Given the description of an element on the screen output the (x, y) to click on. 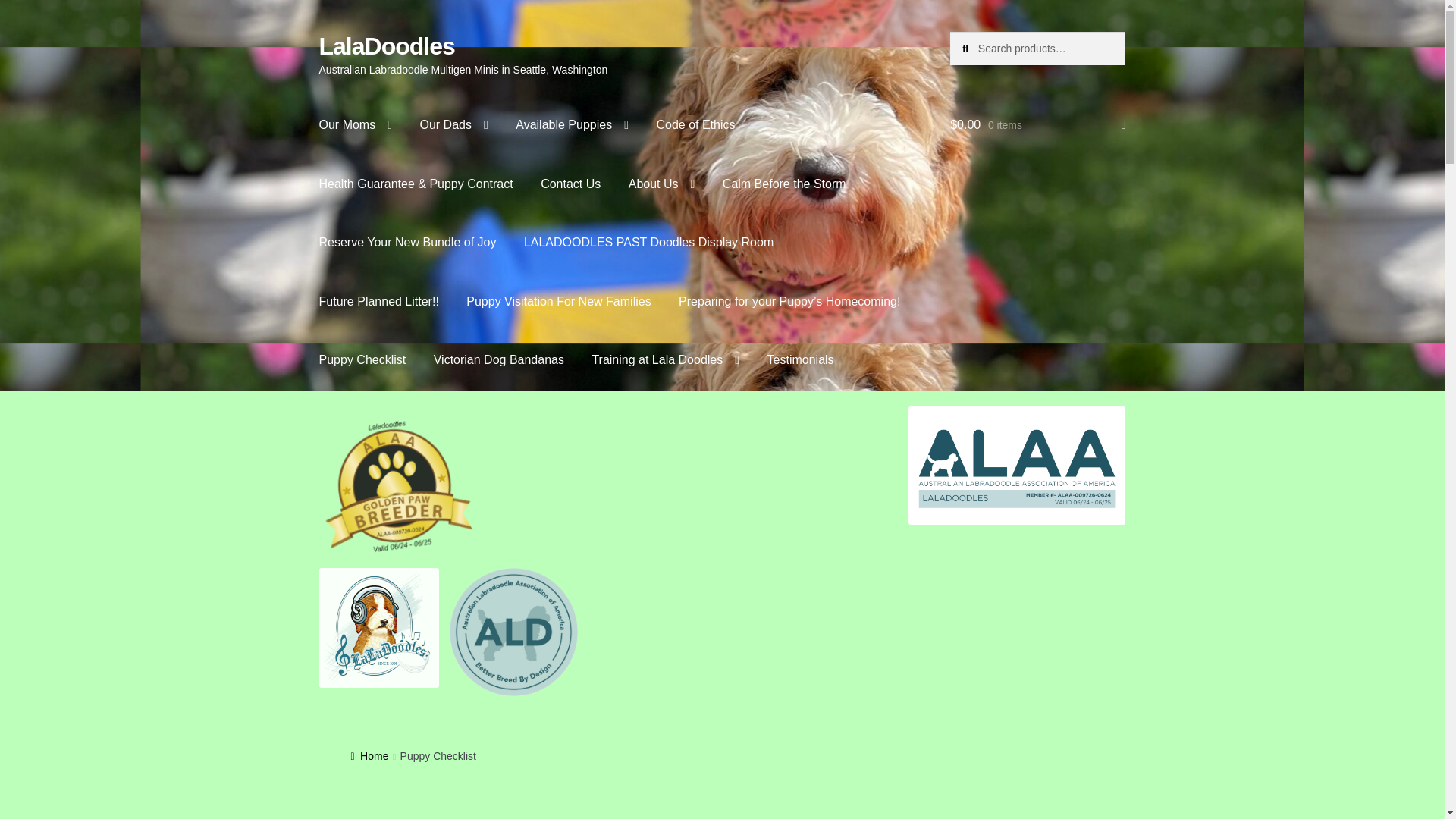
Puppy Visitation For New Families (558, 301)
Training at Lala Doodles (665, 359)
LalaDoodles (386, 45)
Calm Before the Storm (784, 183)
Our Dads (453, 124)
Victorian Dog Bandanas (499, 359)
Our Moms (355, 124)
Reserve Your New Bundle of Joy (407, 241)
Code of Ethics (694, 124)
